Given the description of an element on the screen output the (x, y) to click on. 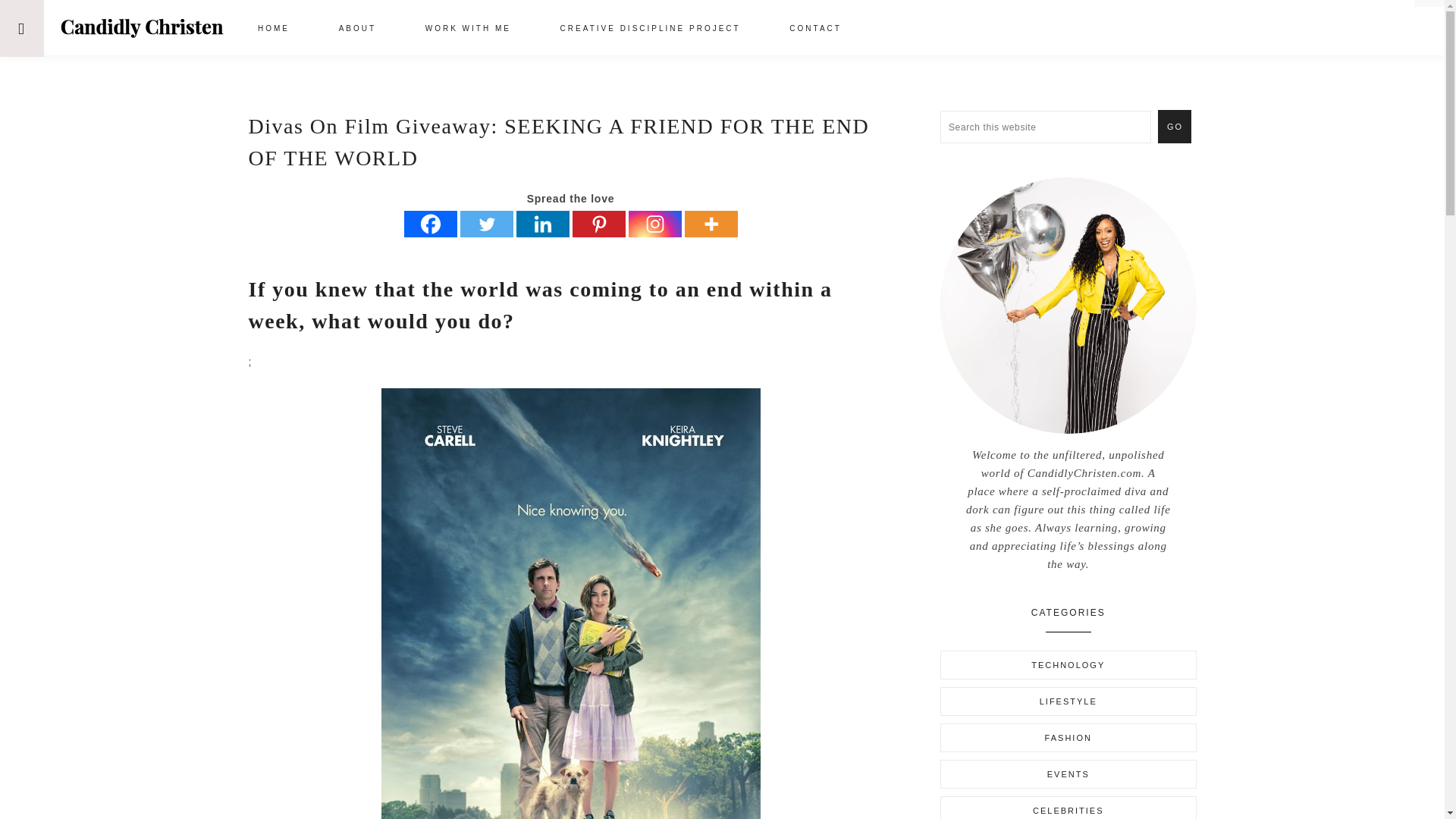
CONTACT (815, 29)
Twitter (486, 223)
CREATIVE DISCIPLINE PROJECT (649, 29)
CANDIDLYCHRISTEN.COM (141, 27)
GO (1174, 126)
HOME (273, 29)
Instagram (654, 223)
Facebook (430, 223)
Linkedin (542, 223)
GO (1174, 126)
ABOUT (356, 29)
WORK WITH ME (468, 29)
More (710, 223)
Pinterest (598, 223)
